Given the description of an element on the screen output the (x, y) to click on. 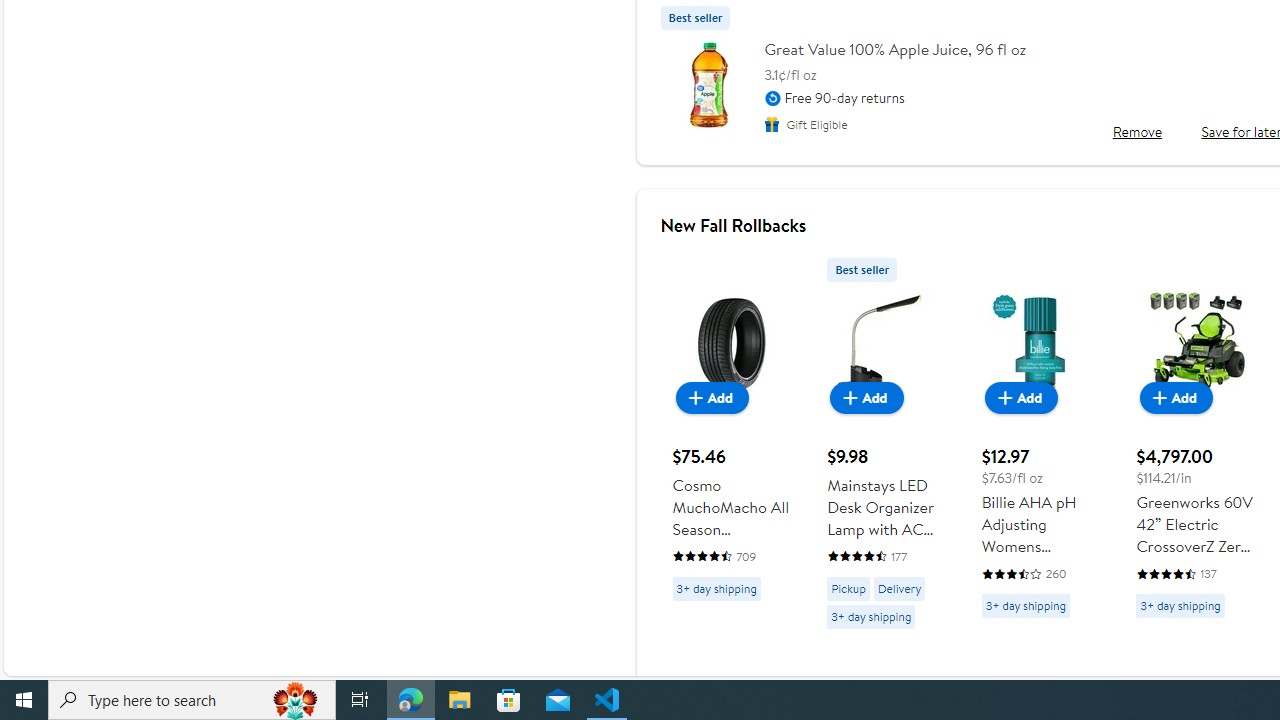
Cosmo MuchoMacho All Season P215/55R17 98W XL Passenger Tire (732, 429)
Remove Great Value 100% Apple Juice, 96 fl oz (1136, 131)
